Given the description of an element on the screen output the (x, y) to click on. 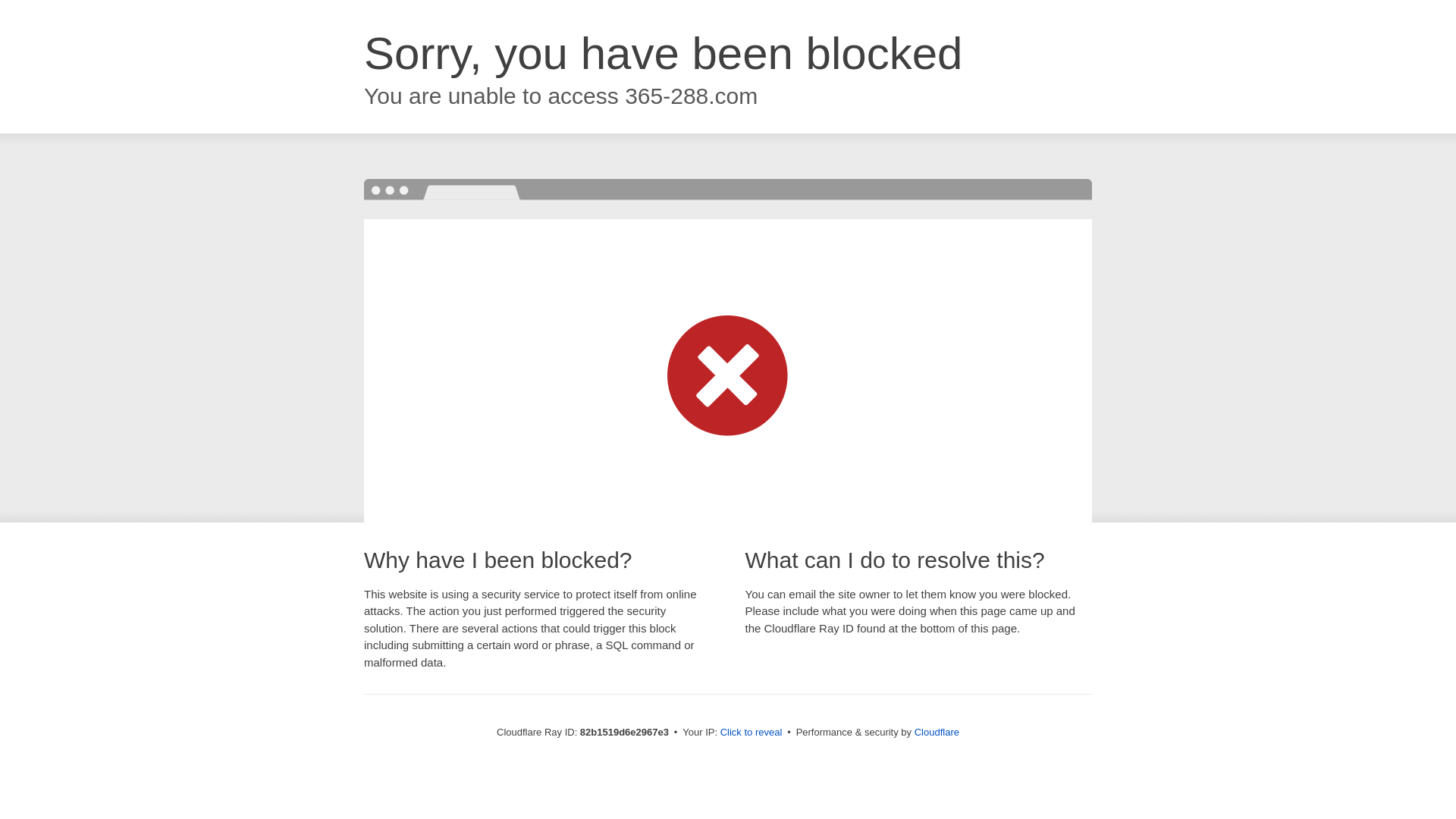
Cloudflare Element type: text (936, 731)
Click to reveal Element type: text (751, 732)
